Given the description of an element on the screen output the (x, y) to click on. 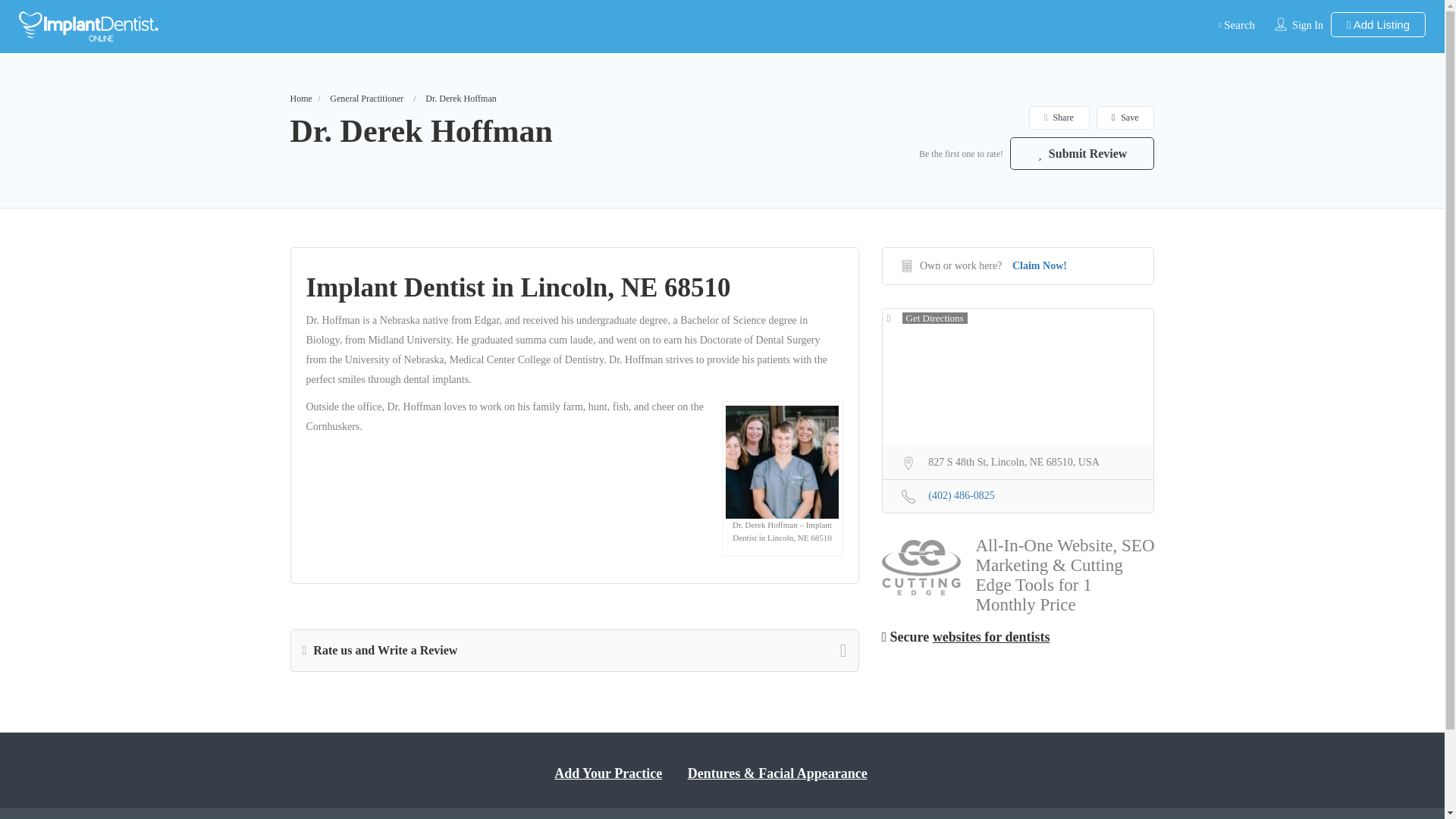
General Practitioner (366, 98)
Add Listing (1377, 24)
Claim Now! (1039, 265)
CHOOSE PLAN (276, 18)
Submit Review (1082, 153)
CHOOSE PLAN (721, 634)
Search (1235, 24)
Get Directions (927, 318)
Home (300, 98)
Sign In (1307, 25)
Save (1125, 117)
Share (1058, 117)
Claim your business now! (584, 571)
Submit (413, 502)
